Given the description of an element on the screen output the (x, y) to click on. 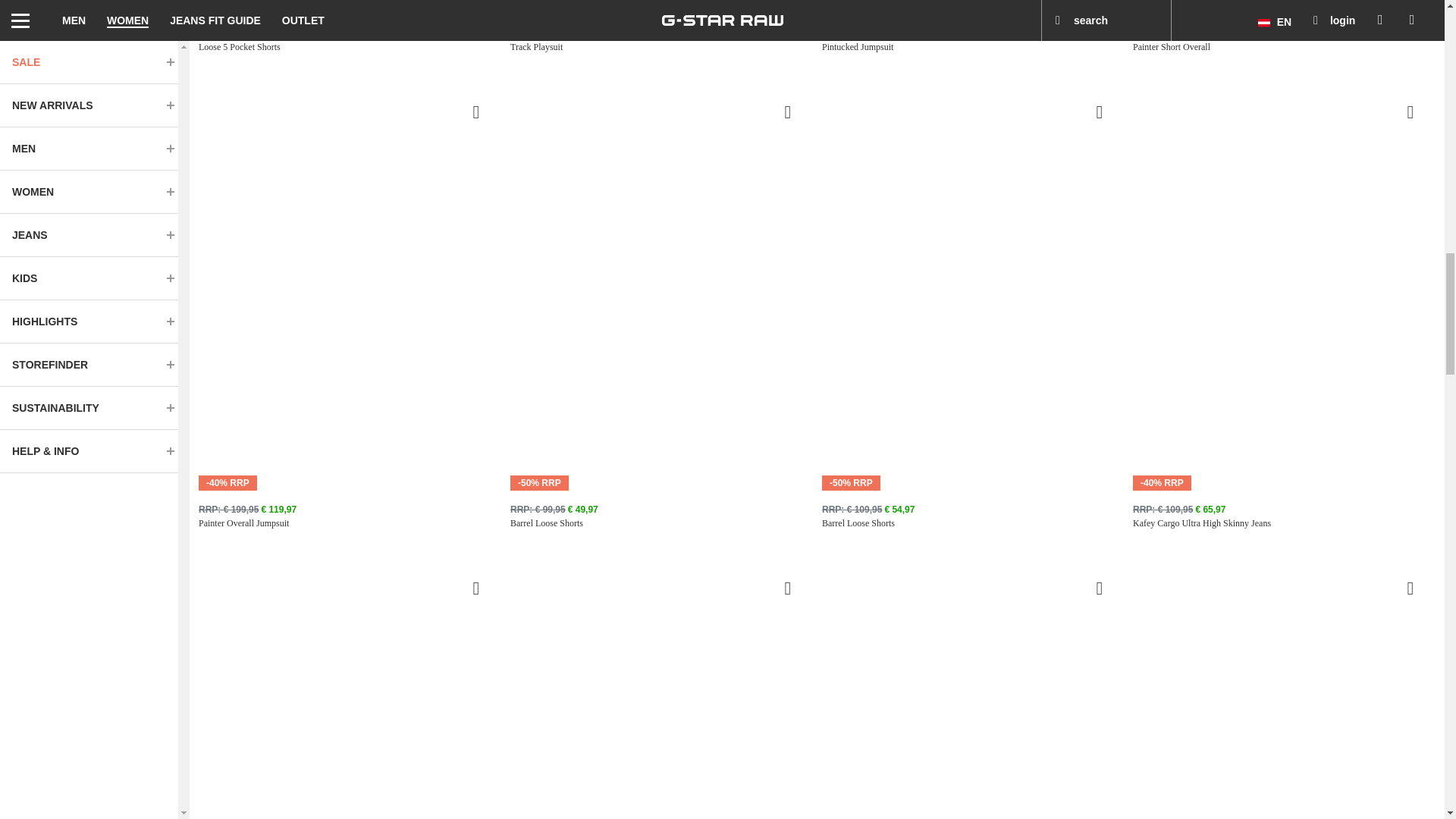
Loose 5 Pocket Shorts (349, 47)
Pintucked Jumpsuit (973, 47)
Barrel Loose Shorts (661, 522)
Painter Overall Jumpsuit (349, 522)
Barrel Loose Shorts (973, 522)
Painter Short Overall (1283, 47)
Kafey Cargo Ultra High Skinny Jeans (1283, 522)
Track Playsuit (661, 47)
